Given the description of an element on the screen output the (x, y) to click on. 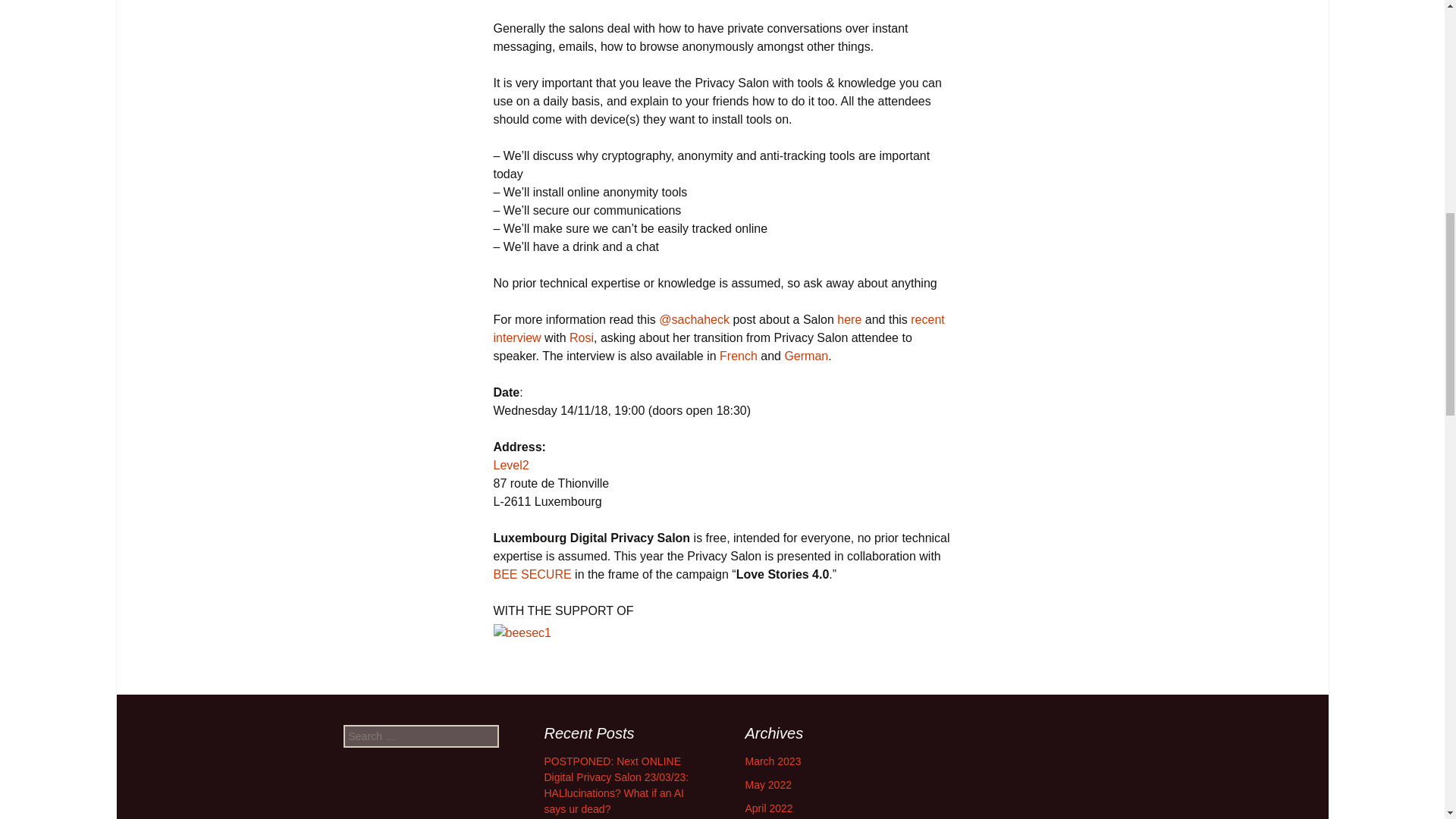
French (738, 355)
May 2022 (767, 784)
BEE SECURE (531, 574)
April 2022 (768, 808)
recent interview (718, 327)
here (849, 318)
March 2023 (772, 761)
Level2 (510, 464)
Rosi (581, 337)
German (806, 355)
